Given the description of an element on the screen output the (x, y) to click on. 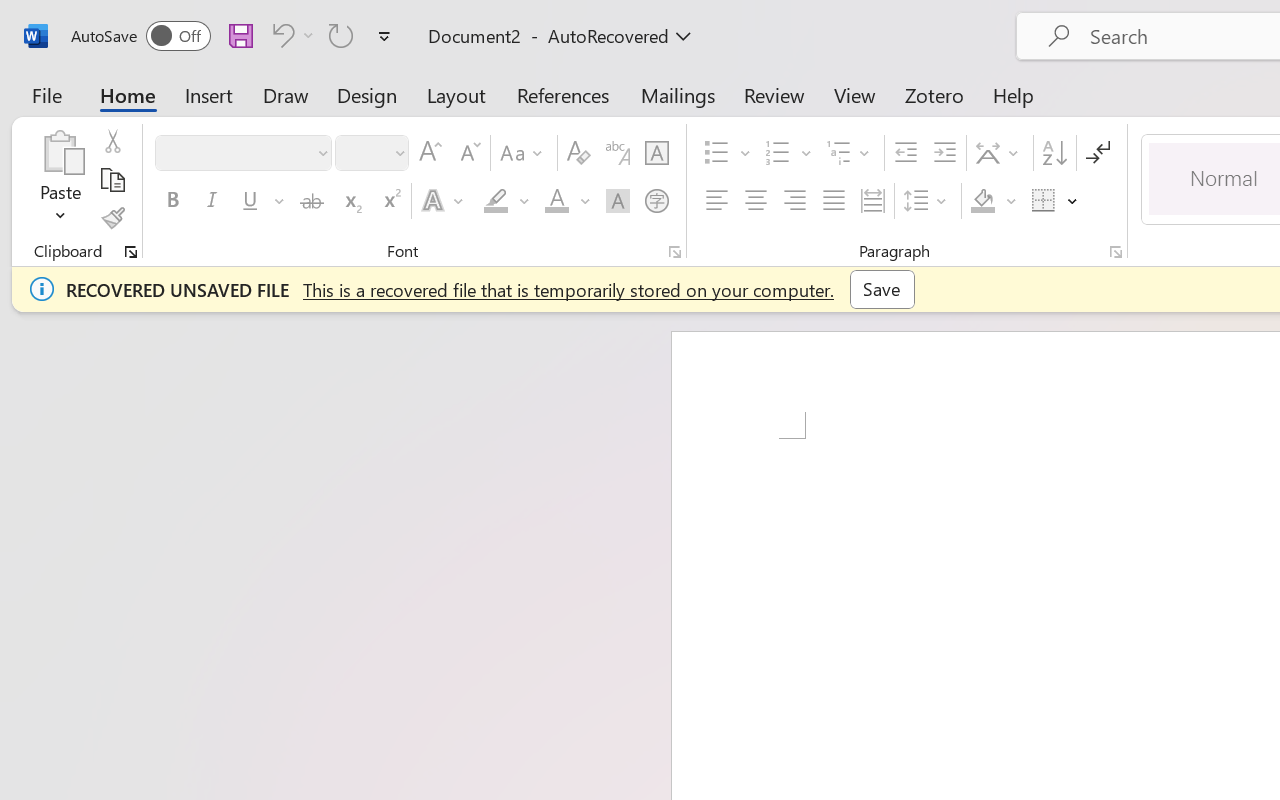
Line and Paragraph Spacing (927, 201)
Character Border (656, 153)
Phonetic Guide... (618, 153)
Decrease Indent (906, 153)
Align Left (716, 201)
Bold (172, 201)
Subscript (350, 201)
Clear Formatting (578, 153)
Distributed (872, 201)
Increase Indent (944, 153)
